Given the description of an element on the screen output the (x, y) to click on. 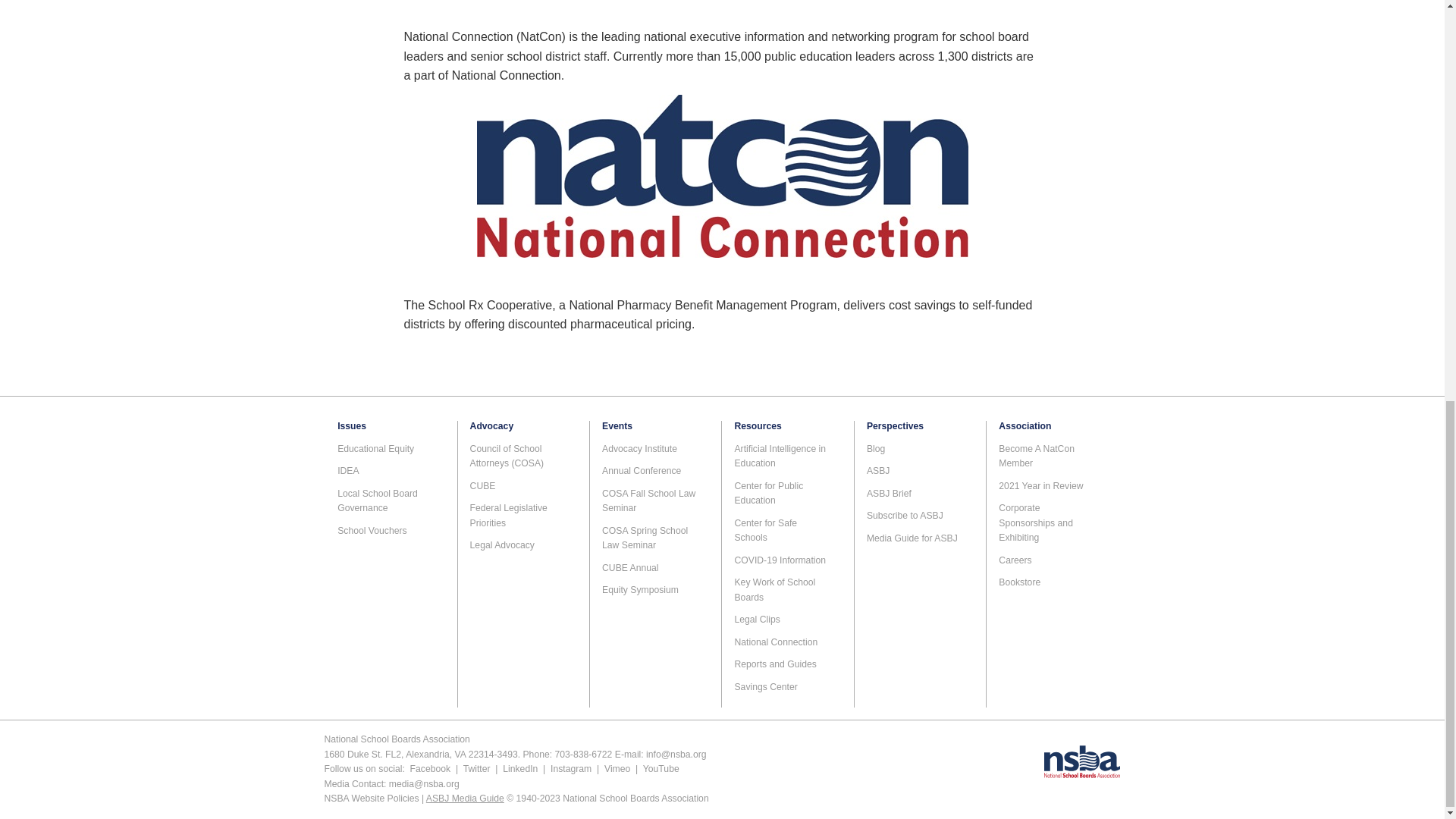
Federal Legislative Priorities (508, 515)
Local School Board Governance (377, 501)
Legal Advocacy (502, 544)
CUBE (483, 485)
Artificial Intelligence in Education (779, 456)
Center for Public Education (768, 493)
Educational Equity (375, 448)
CUBE Annual (630, 567)
Equity Symposium (640, 589)
Advocacy Institute (639, 448)
